Given the description of an element on the screen output the (x, y) to click on. 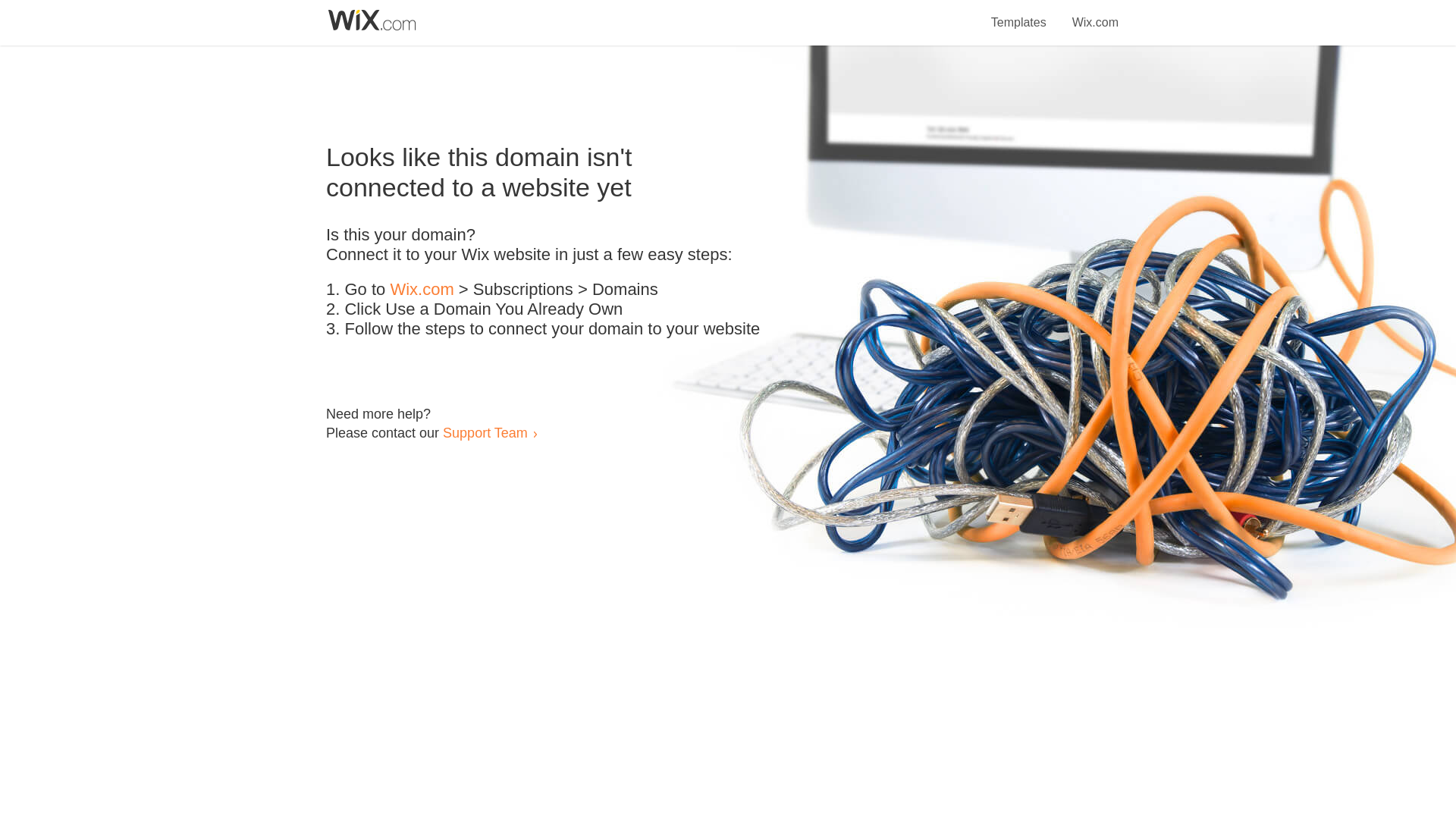
Wix.com (421, 289)
Support Team (484, 432)
Wix.com (1095, 14)
Templates (1018, 14)
